Given the description of an element on the screen output the (x, y) to click on. 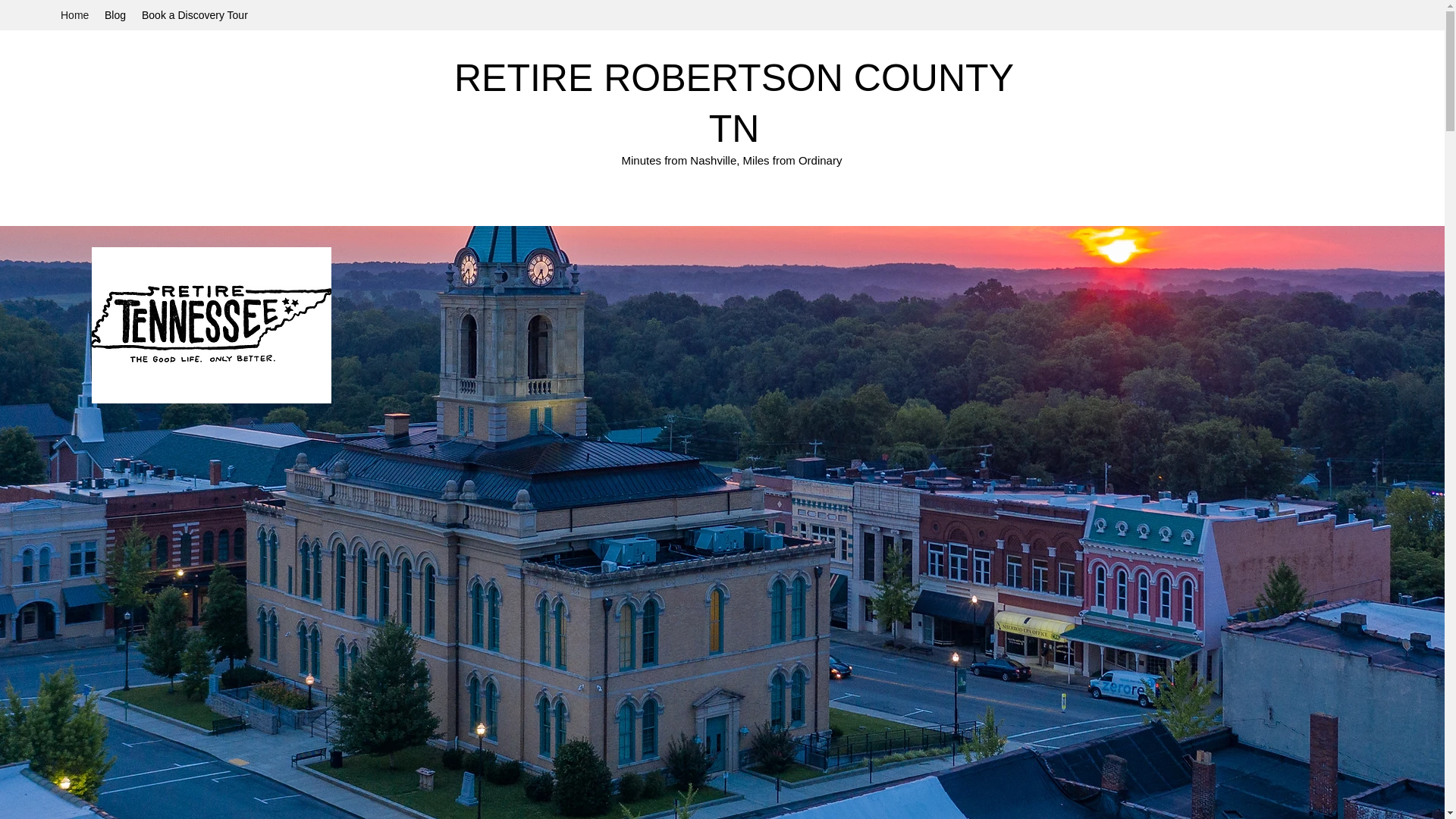
Blog (115, 15)
RETIRE ROBERTSON COUNTY TN (733, 102)
Book a Discovery Tour (193, 15)
Home (74, 15)
